Given the description of an element on the screen output the (x, y) to click on. 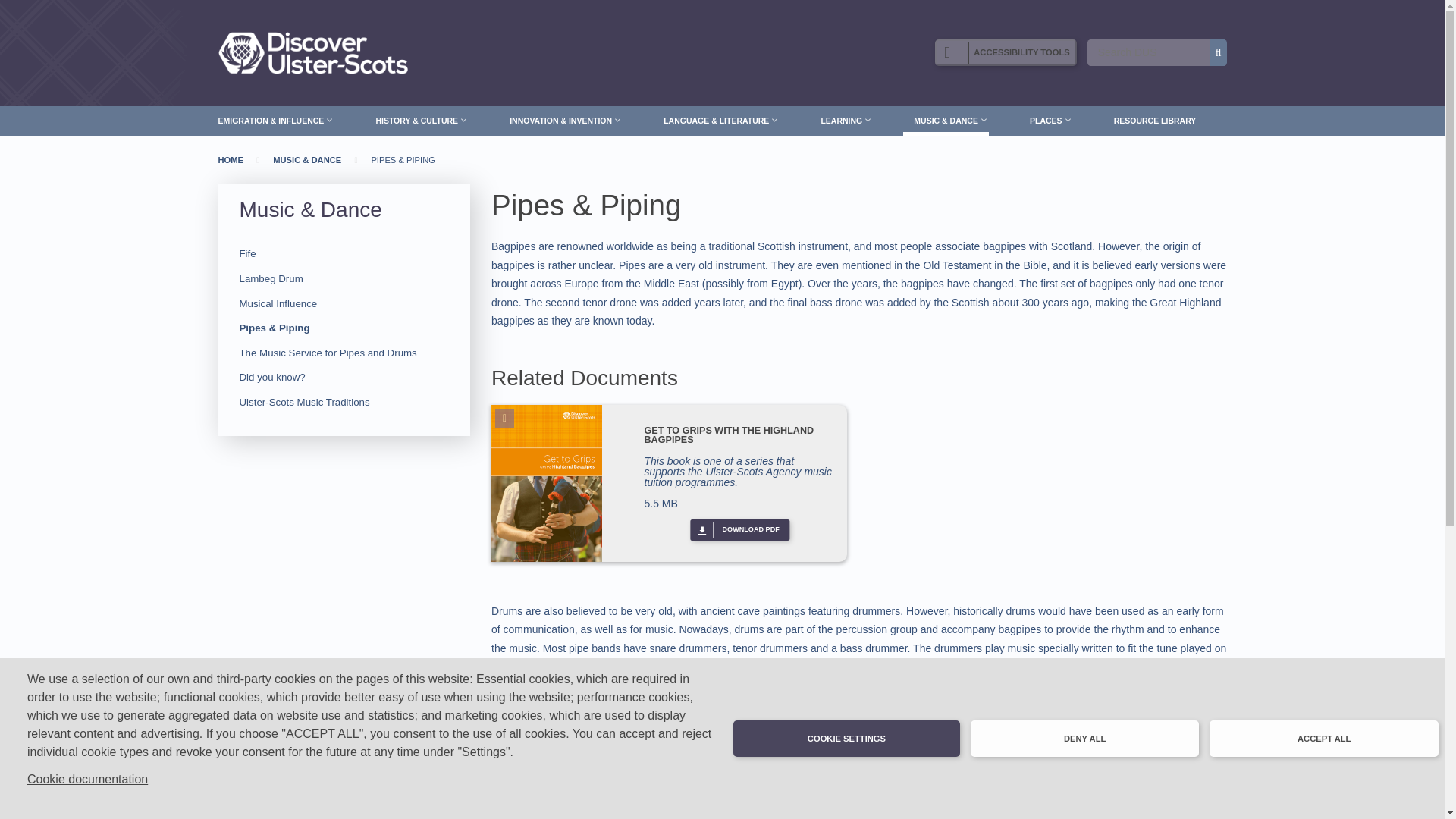
Enable Recite accessibility options (1004, 52)
ACCESSIBILITY TOOLS (1004, 52)
Enter the terms you wish to search for. (1156, 52)
